Given the description of an element on the screen output the (x, y) to click on. 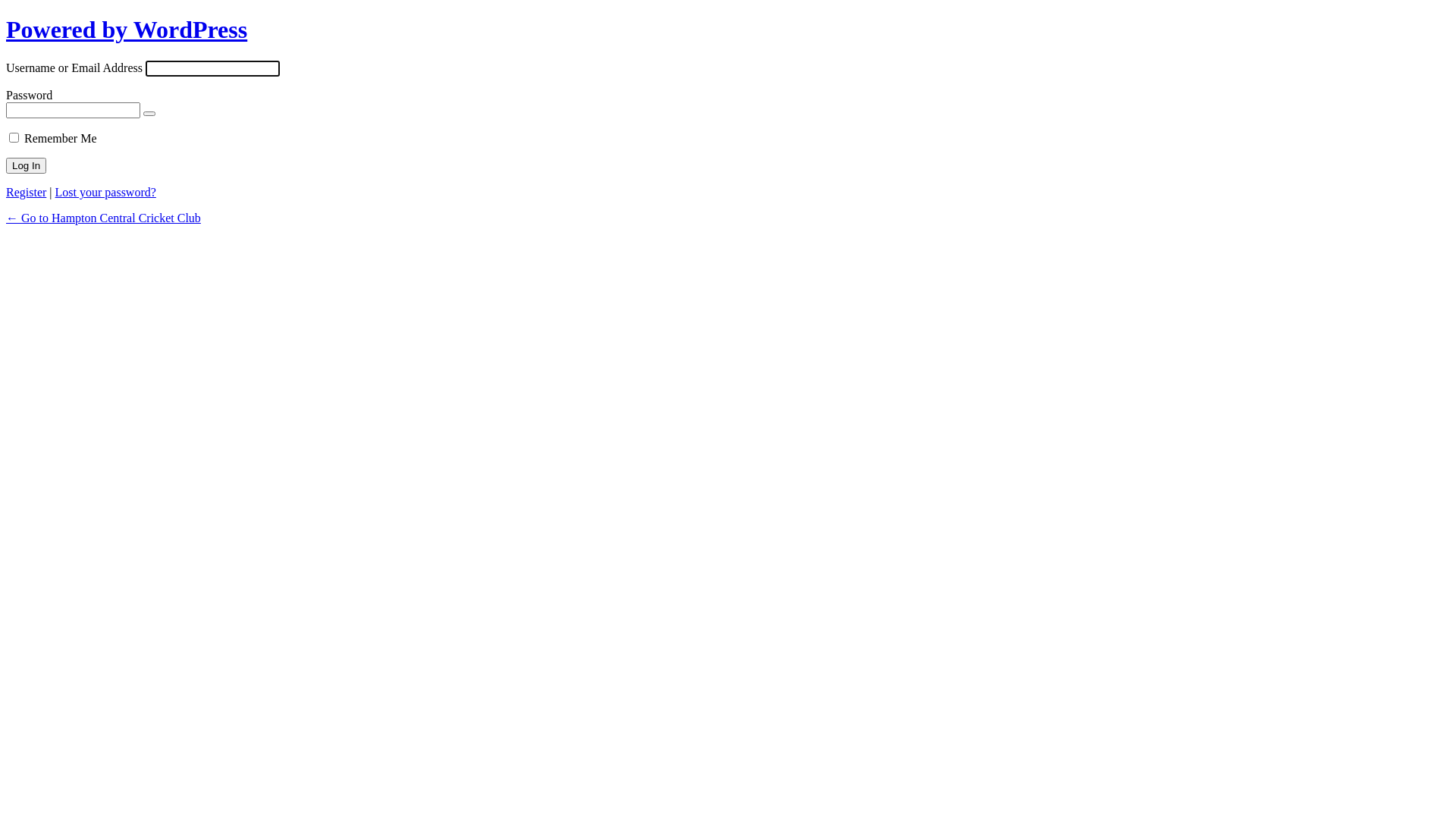
Powered by WordPress Element type: text (126, 29)
Log In Element type: text (26, 165)
Register Element type: text (26, 191)
Lost your password? Element type: text (105, 191)
